Given the description of an element on the screen output the (x, y) to click on. 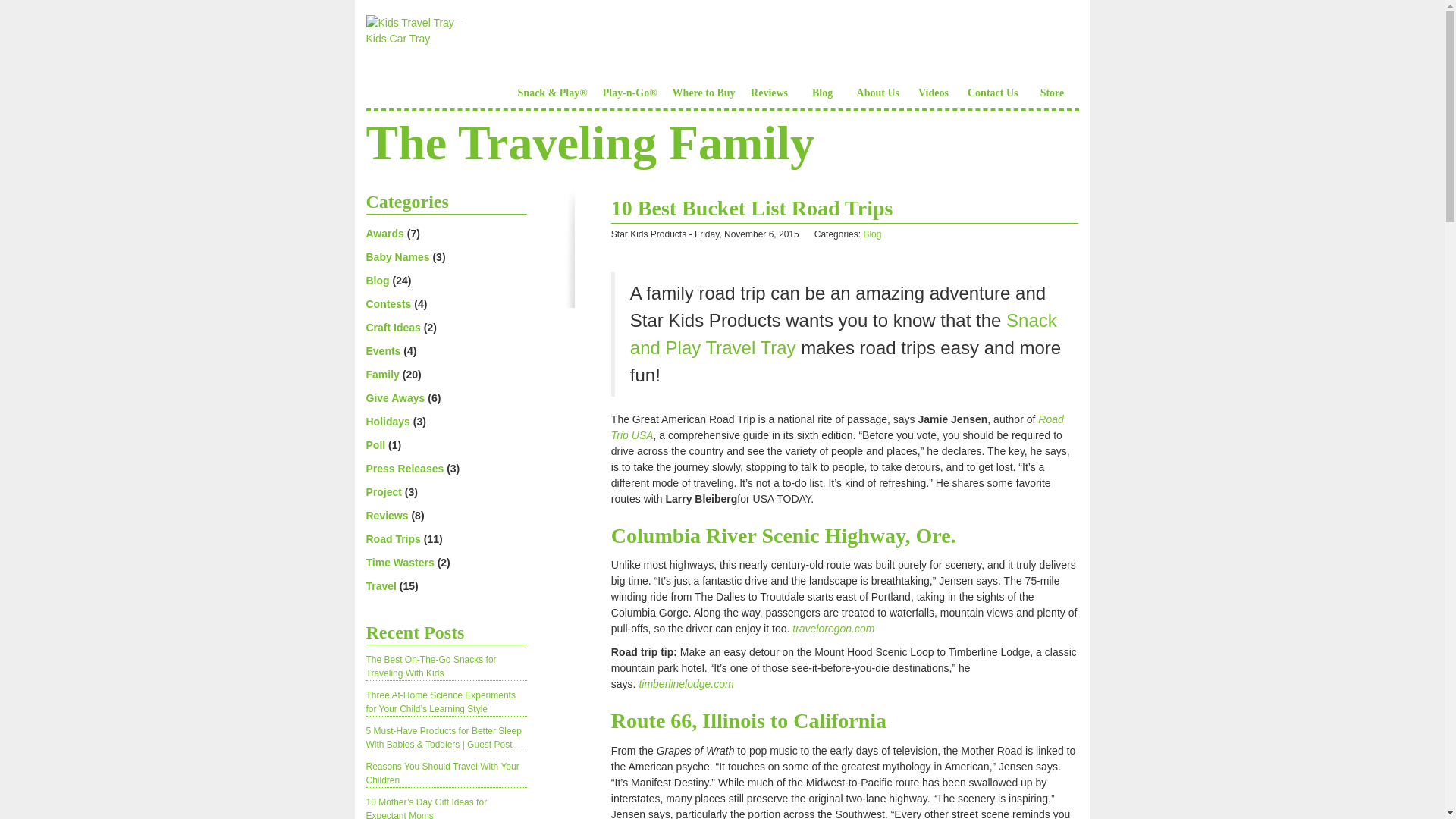
Blog (376, 280)
Family (381, 374)
Awards (384, 233)
Give Aways (395, 398)
Reasons You Should Travel With Your Children (441, 773)
Travel (380, 585)
Reviews (386, 515)
Time Wasters (399, 562)
Baby Names (397, 256)
Press Releases (404, 468)
About Us (877, 77)
Holidays (387, 421)
Events (382, 350)
The Best On-The-Go Snacks for Traveling With Kids (430, 666)
Poll (375, 444)
